Given the description of an element on the screen output the (x, y) to click on. 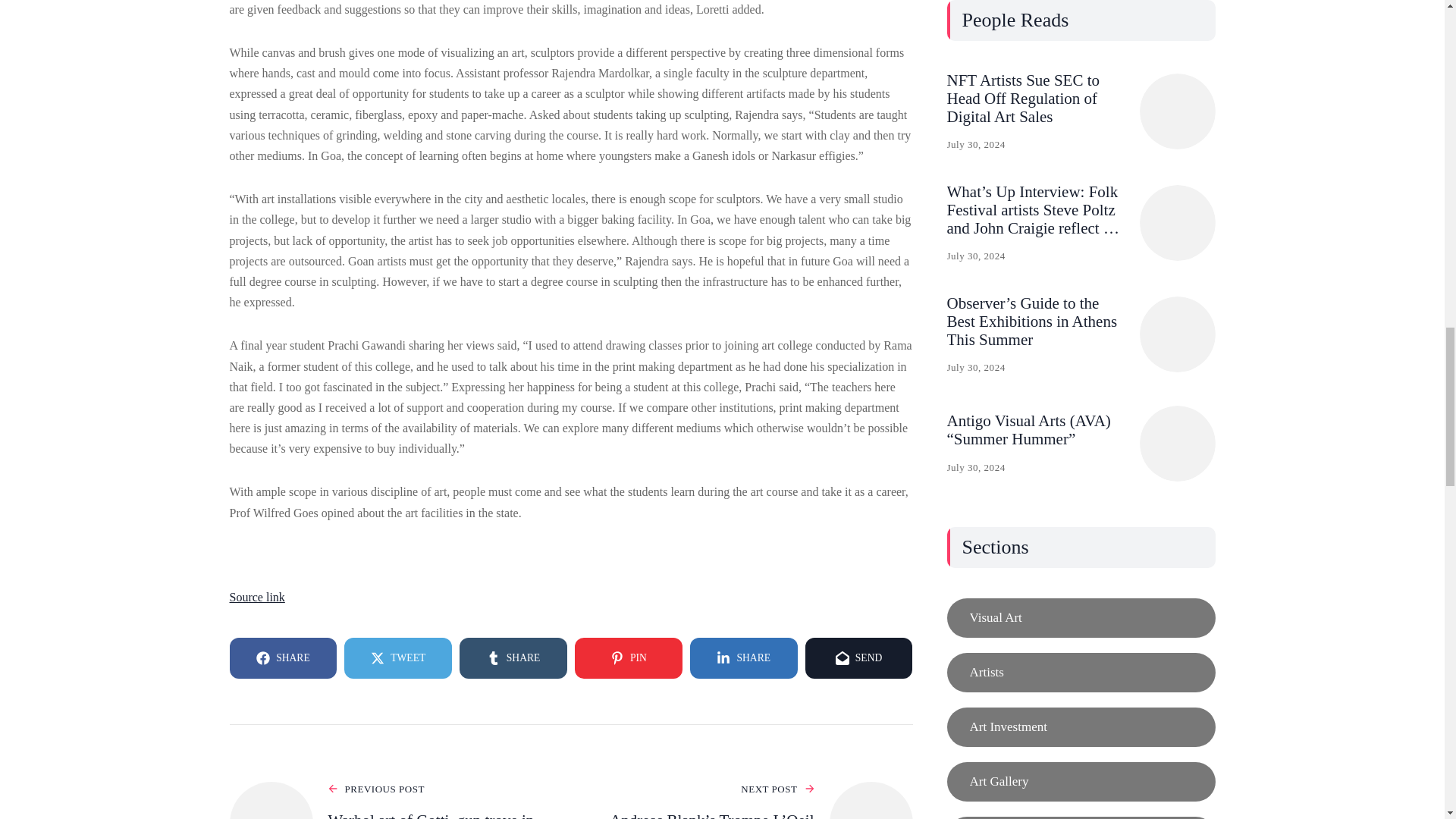
TWEET (397, 658)
SHARE (282, 658)
PIN (628, 658)
Source link (255, 596)
SHARE (513, 658)
SEND (858, 658)
SHARE (743, 658)
